Given the description of an element on the screen output the (x, y) to click on. 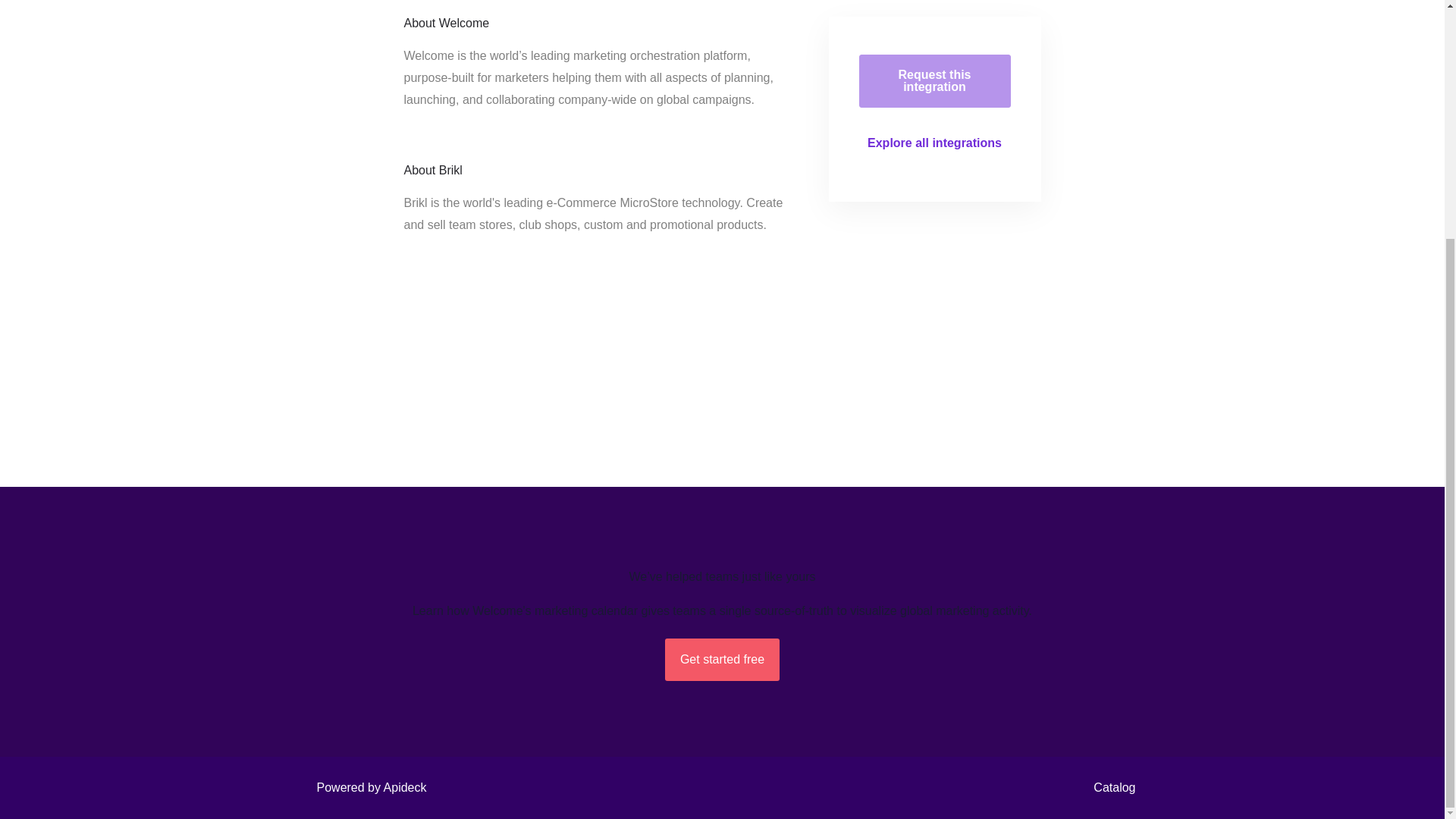
Get started free (721, 659)
Powered by Apideck (366, 787)
Catalog (1109, 787)
Explore all integrations (934, 142)
Request this integration (934, 80)
